Given the description of an element on the screen output the (x, y) to click on. 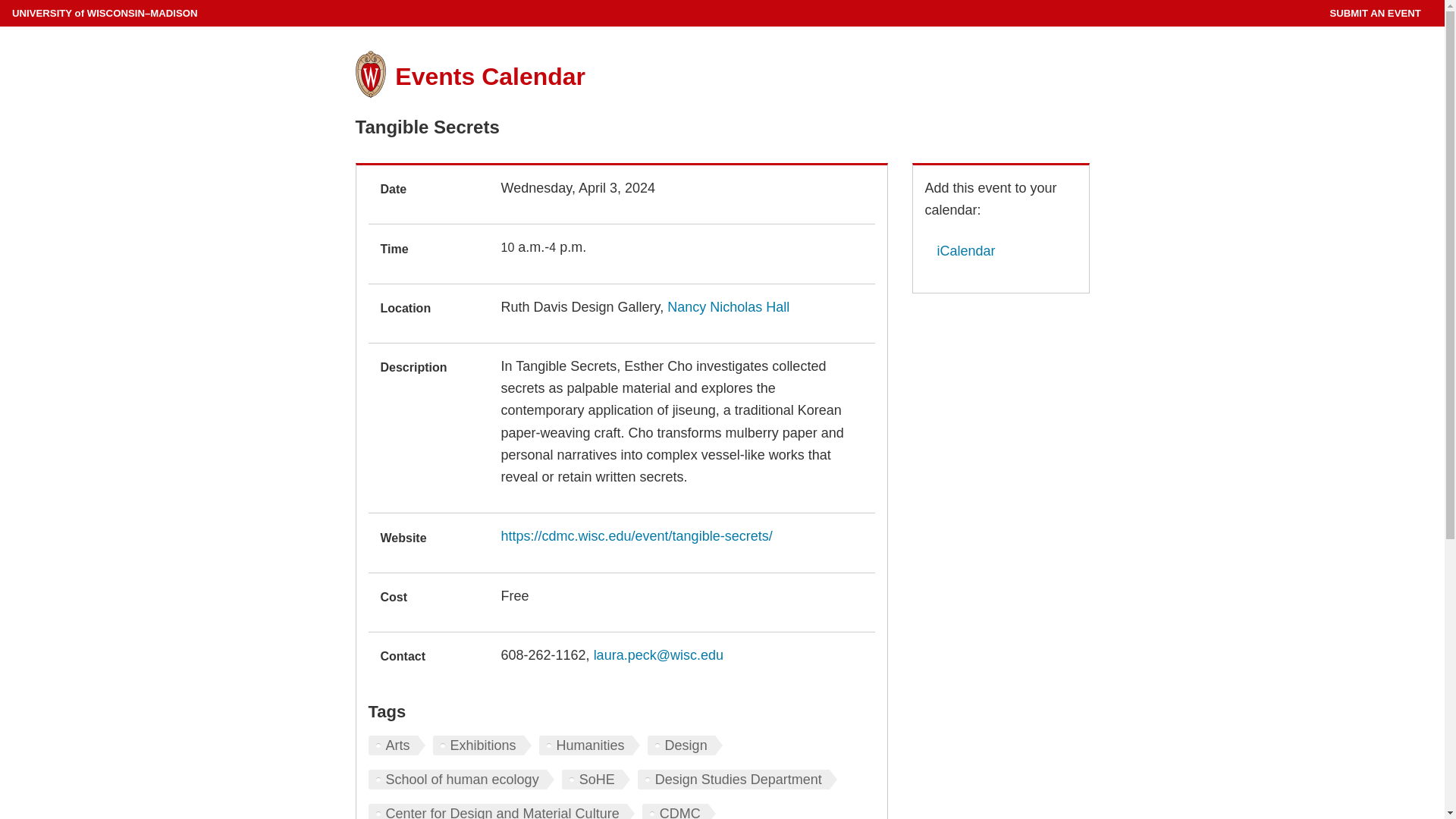
Humanities (589, 745)
Events Calendar (489, 76)
608-262-1162 (542, 654)
Center for Design and Material Culture (501, 811)
Design Studies Department (737, 779)
iCalendar (959, 250)
SUBMIT AN EVENT (1375, 13)
Exhibitions (481, 745)
Skip to main content (3, 3)
School of human ecology (461, 779)
Arts (396, 745)
Design (684, 745)
Nancy Nicholas Hall (727, 306)
CDMC (679, 811)
SoHE (596, 779)
